Given the description of an element on the screen output the (x, y) to click on. 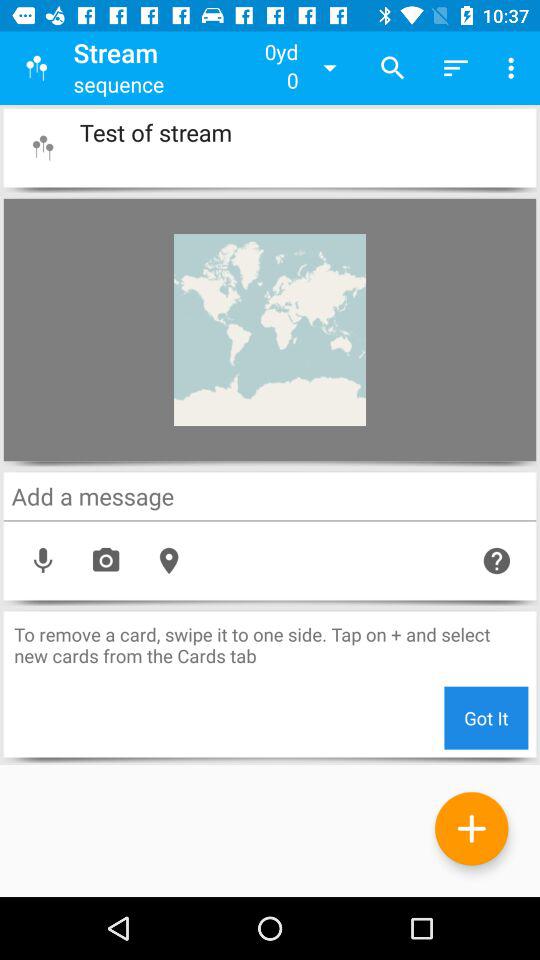
messages box (269, 496)
